Given the description of an element on the screen output the (x, y) to click on. 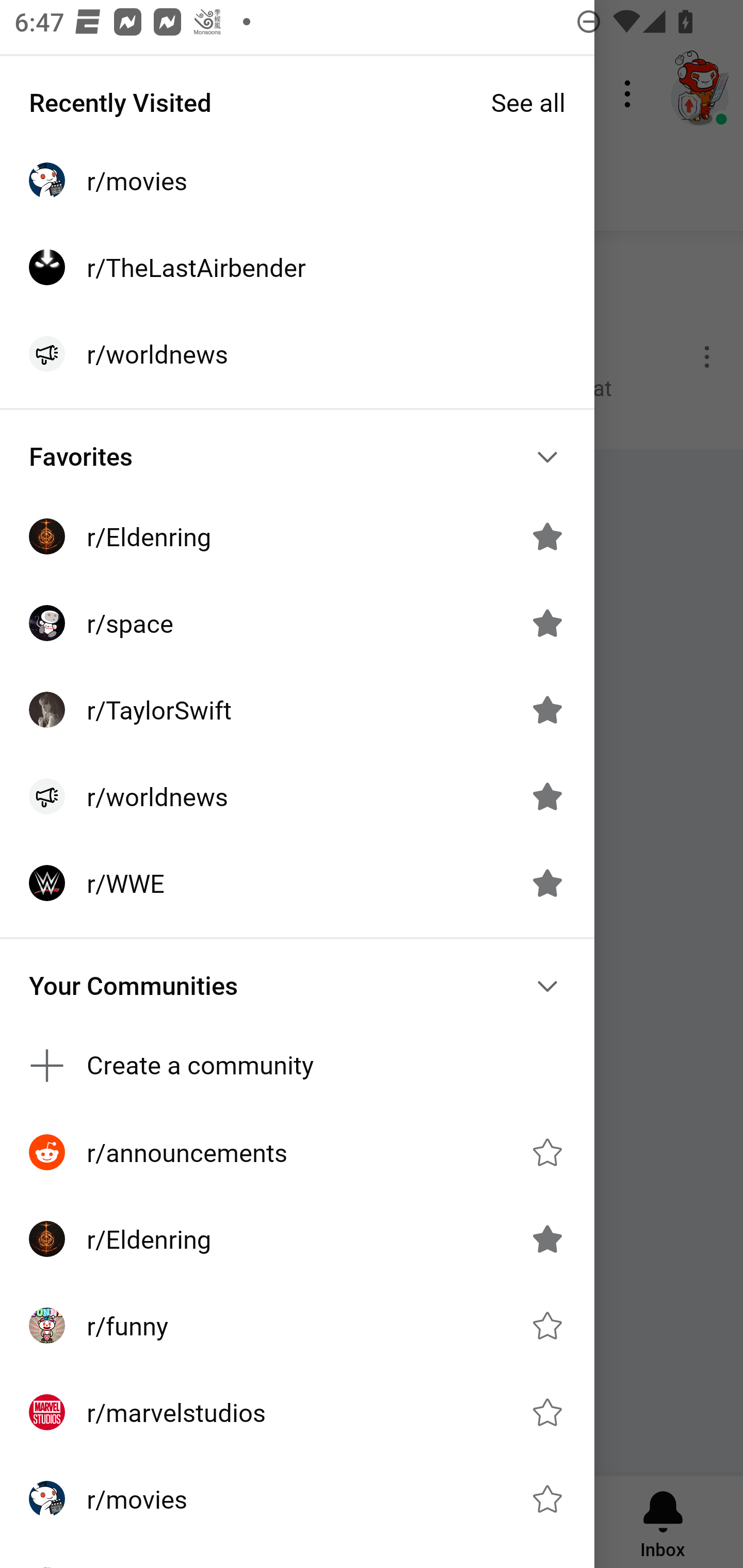
Recently Visited See all (297, 102)
See all (528, 102)
r/movies (297, 180)
r/TheLastAirbender (297, 267)
r/worldnews (297, 353)
Favorites (297, 456)
r/Eldenring Unfavorite r/Eldenring (297, 536)
Unfavorite r/Eldenring (546, 536)
r/space Unfavorite r/space (297, 623)
Unfavorite r/space (546, 623)
r/TaylorSwift Unfavorite r/TaylorSwift (297, 709)
Unfavorite r/TaylorSwift (546, 709)
r/worldnews Unfavorite r/worldnews (297, 796)
Unfavorite r/worldnews (546, 796)
r/WWE Unfavorite r/WWE (297, 883)
Unfavorite r/WWE (546, 882)
Your Communities (297, 986)
Create a community (297, 1065)
r/announcements Favorite r/announcements (297, 1151)
Favorite r/announcements (546, 1152)
r/Eldenring Unfavorite r/Eldenring (297, 1238)
Unfavorite r/Eldenring (546, 1238)
r/funny Favorite r/funny (297, 1325)
Favorite r/funny (546, 1325)
r/marvelstudios Favorite r/marvelstudios (297, 1411)
Favorite r/marvelstudios (546, 1411)
r/movies Favorite r/movies (297, 1498)
Favorite r/movies (546, 1498)
